Given the description of an element on the screen output the (x, y) to click on. 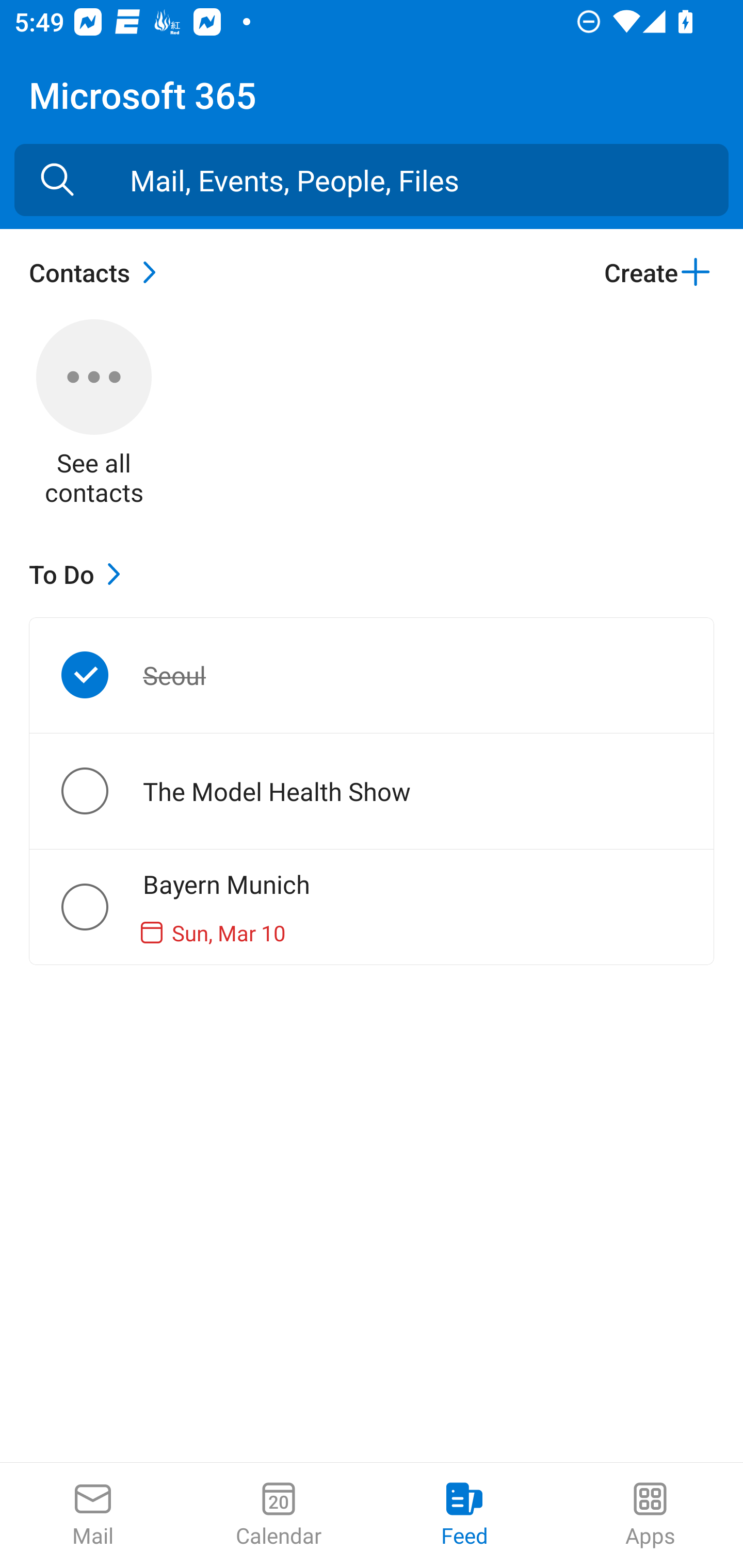
Search for Mail, Events, People, Files (57, 180)
Contacts (97, 271)
Create Create contact (658, 271)
See all contacts (93, 414)
To Do (79, 573)
Seoul Seoul Seoul. completed (371, 674)
Seoul (101, 674)
The Model Health Show (101, 790)
Bayern Munich (101, 906)
Mail (92, 1515)
Calendar (278, 1515)
Apps (650, 1515)
